Given the description of an element on the screen output the (x, y) to click on. 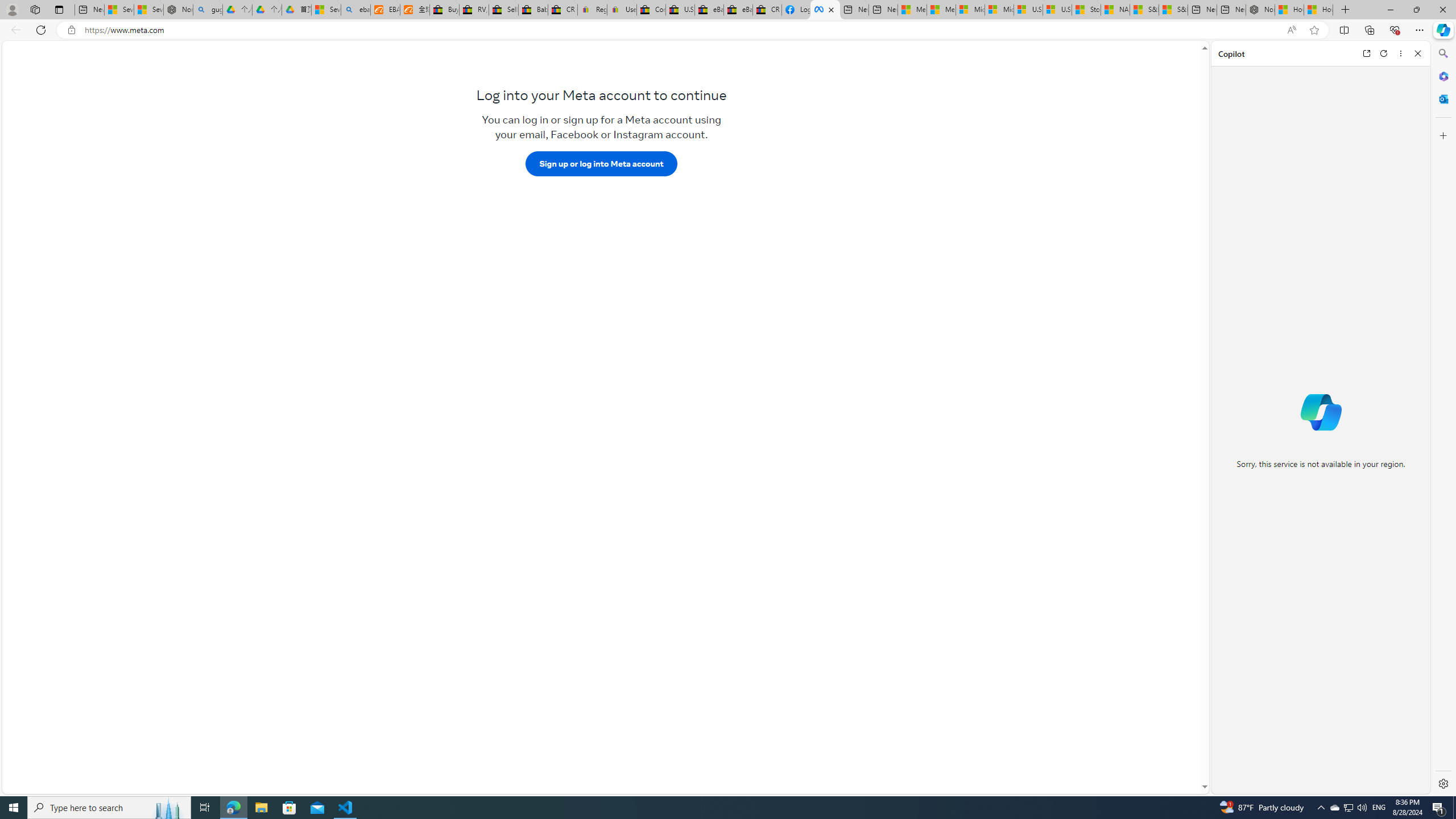
eBay Inc. Reports Third Quarter 2023 Results (738, 9)
ebay - Search (355, 9)
Customize (1442, 135)
